Given the description of an element on the screen output the (x, y) to click on. 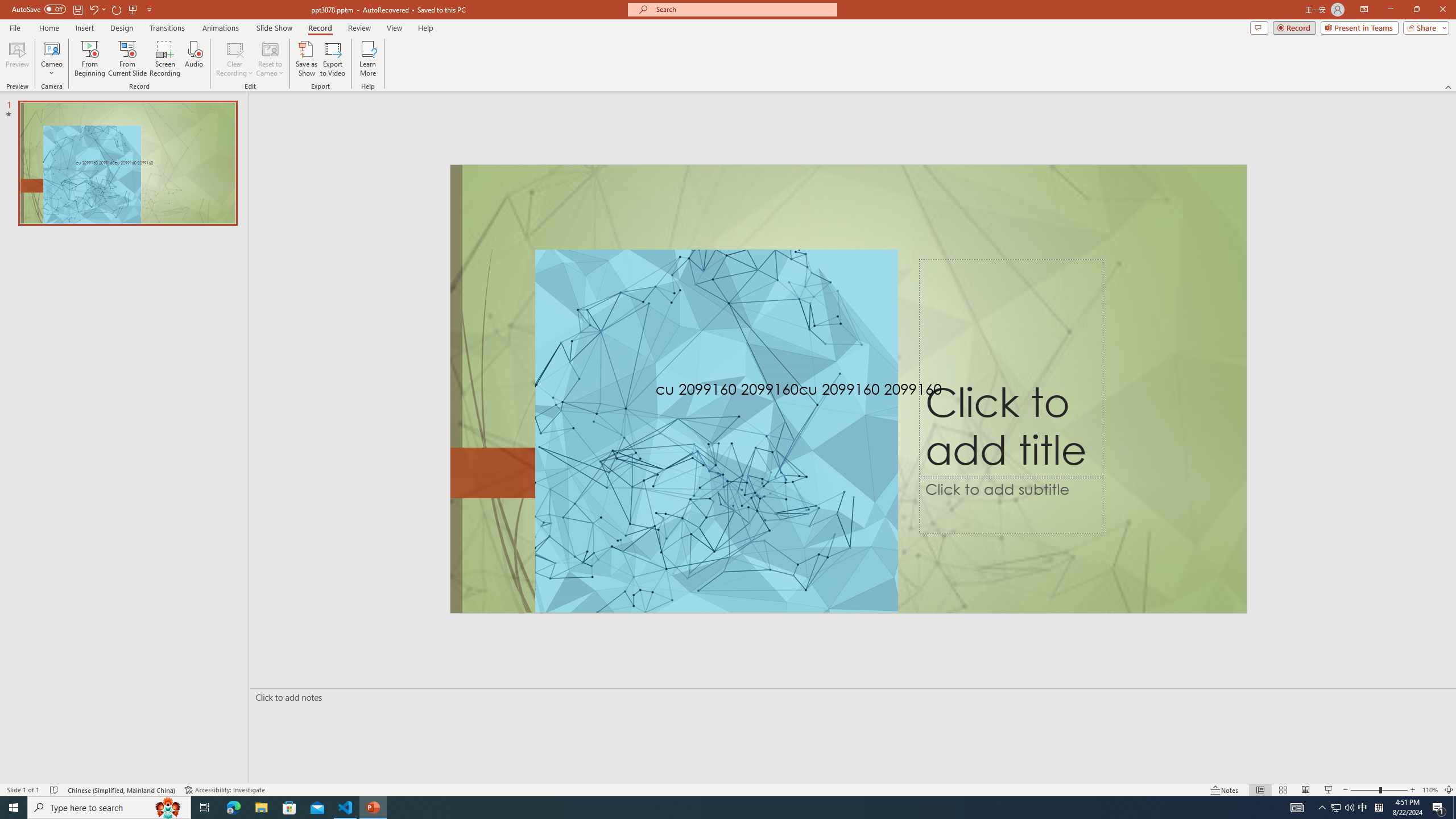
From Beginning... (89, 58)
Save (77, 9)
Restore Down (1416, 9)
Home (48, 28)
AutoSave (38, 9)
Clear Recording (234, 58)
Notes  (1225, 790)
Export to Video (332, 58)
Save as Show (306, 58)
Learn More (368, 58)
Zoom (1379, 790)
Close (1442, 9)
Zoom Out (1364, 790)
Preview (17, 58)
